Given the description of an element on the screen output the (x, y) to click on. 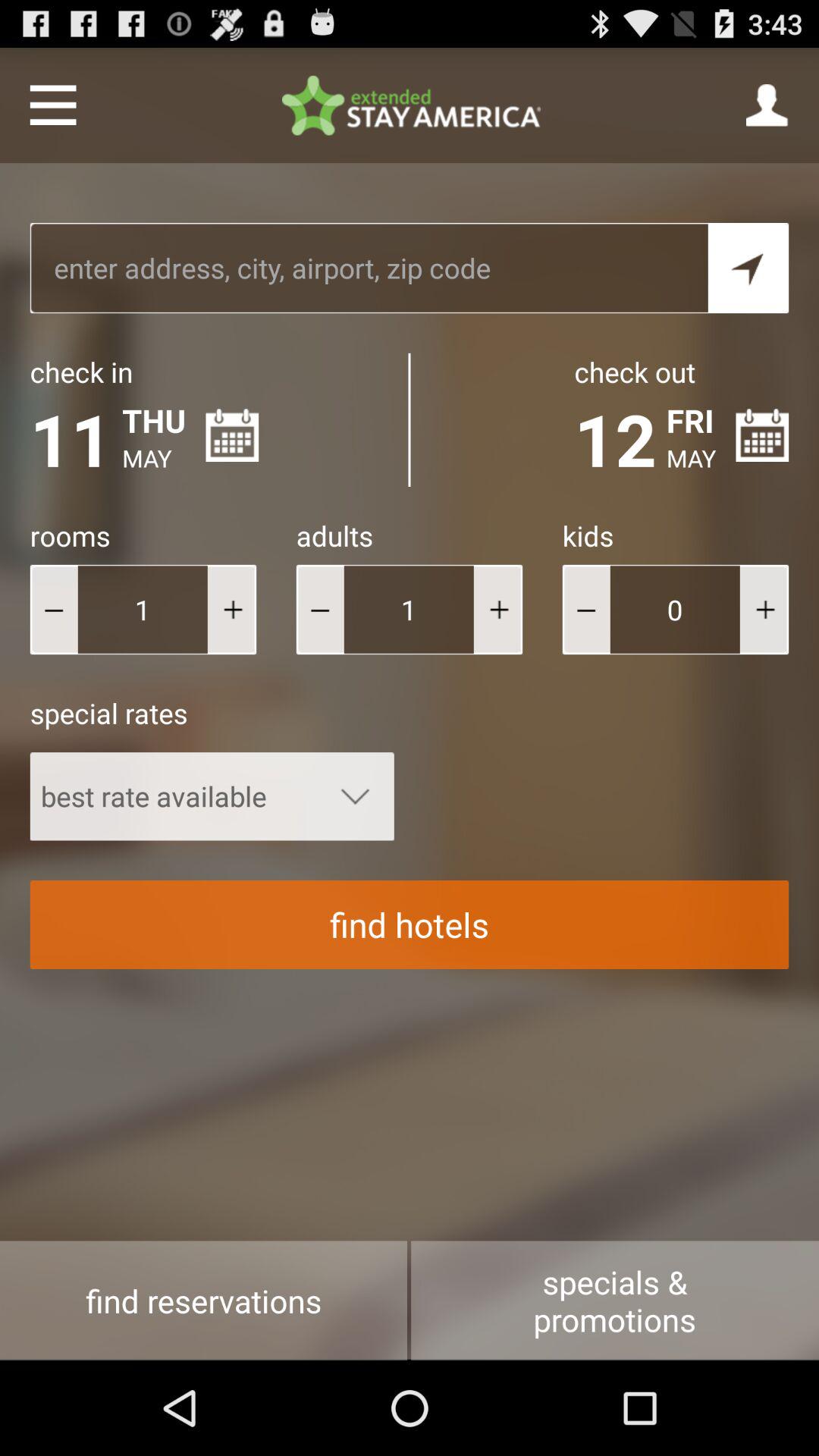
decrease the kids points (586, 609)
